Given the description of an element on the screen output the (x, y) to click on. 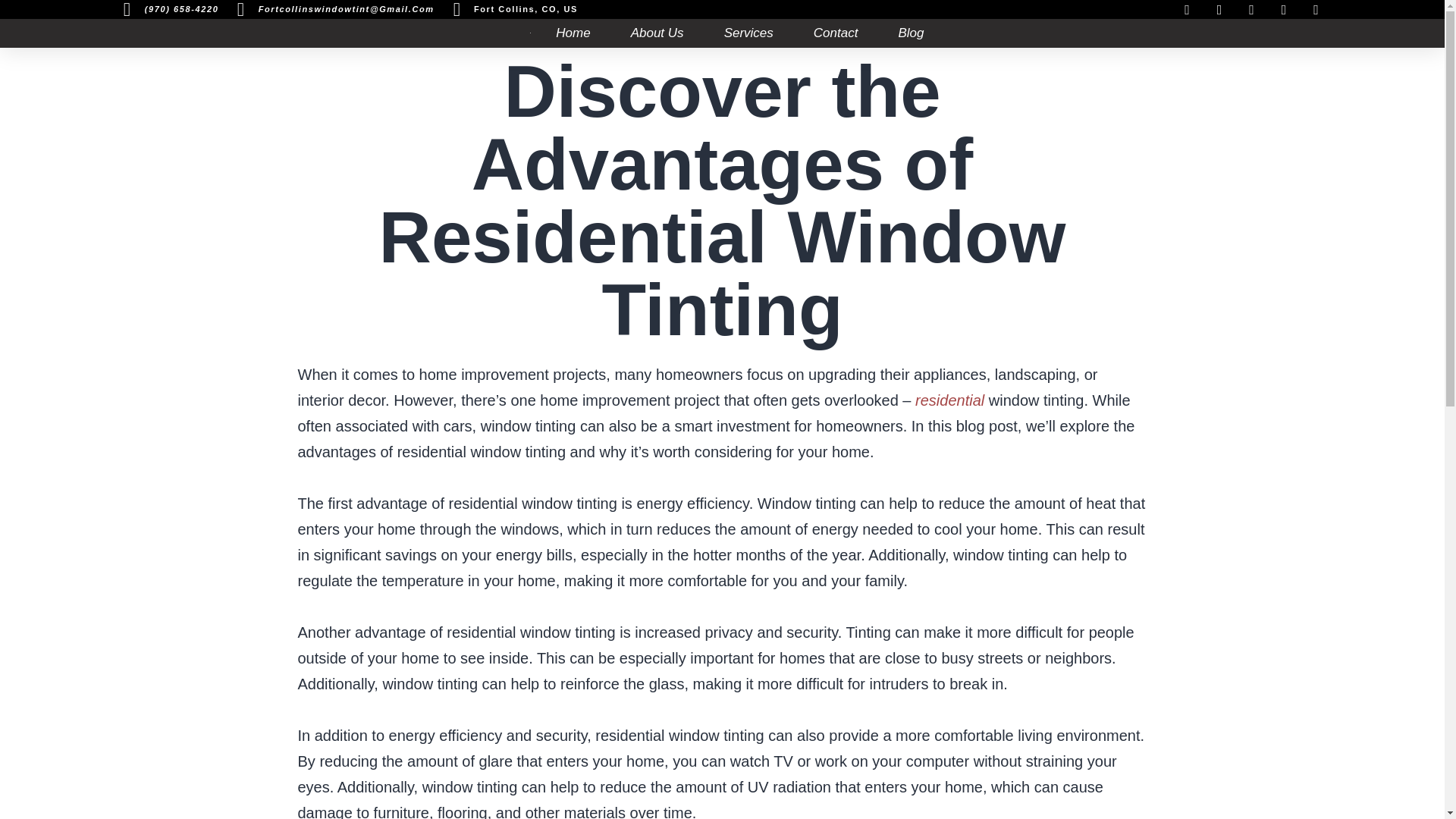
Services (748, 32)
Blog (910, 32)
About Us (656, 32)
Contact (835, 32)
Home (572, 32)
residential (949, 400)
